Given the description of an element on the screen output the (x, y) to click on. 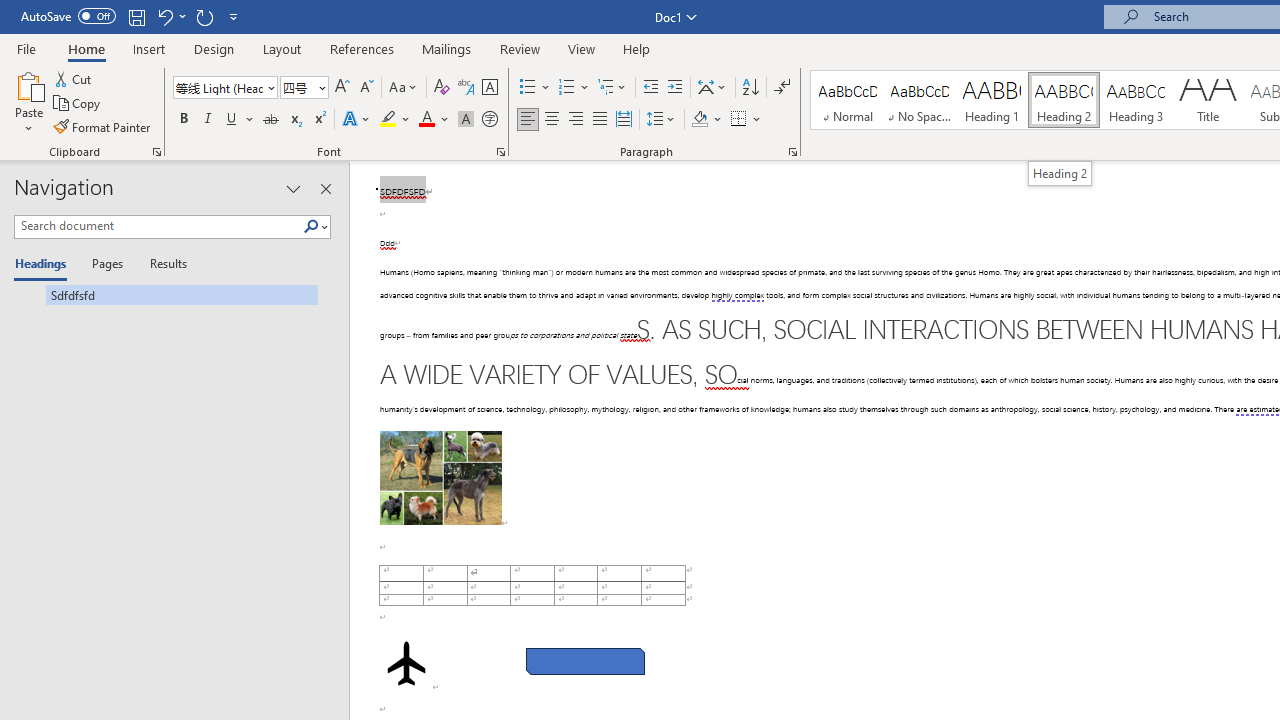
Character Shading (465, 119)
Text Highlight Color (395, 119)
Morphological variation in six dogs (440, 477)
Superscript (319, 119)
Italic (207, 119)
Rectangle: Diagonal Corners Snipped 2 (585, 661)
Change Case (404, 87)
Undo Apply Quick Style (164, 15)
